Given the description of an element on the screen output the (x, y) to click on. 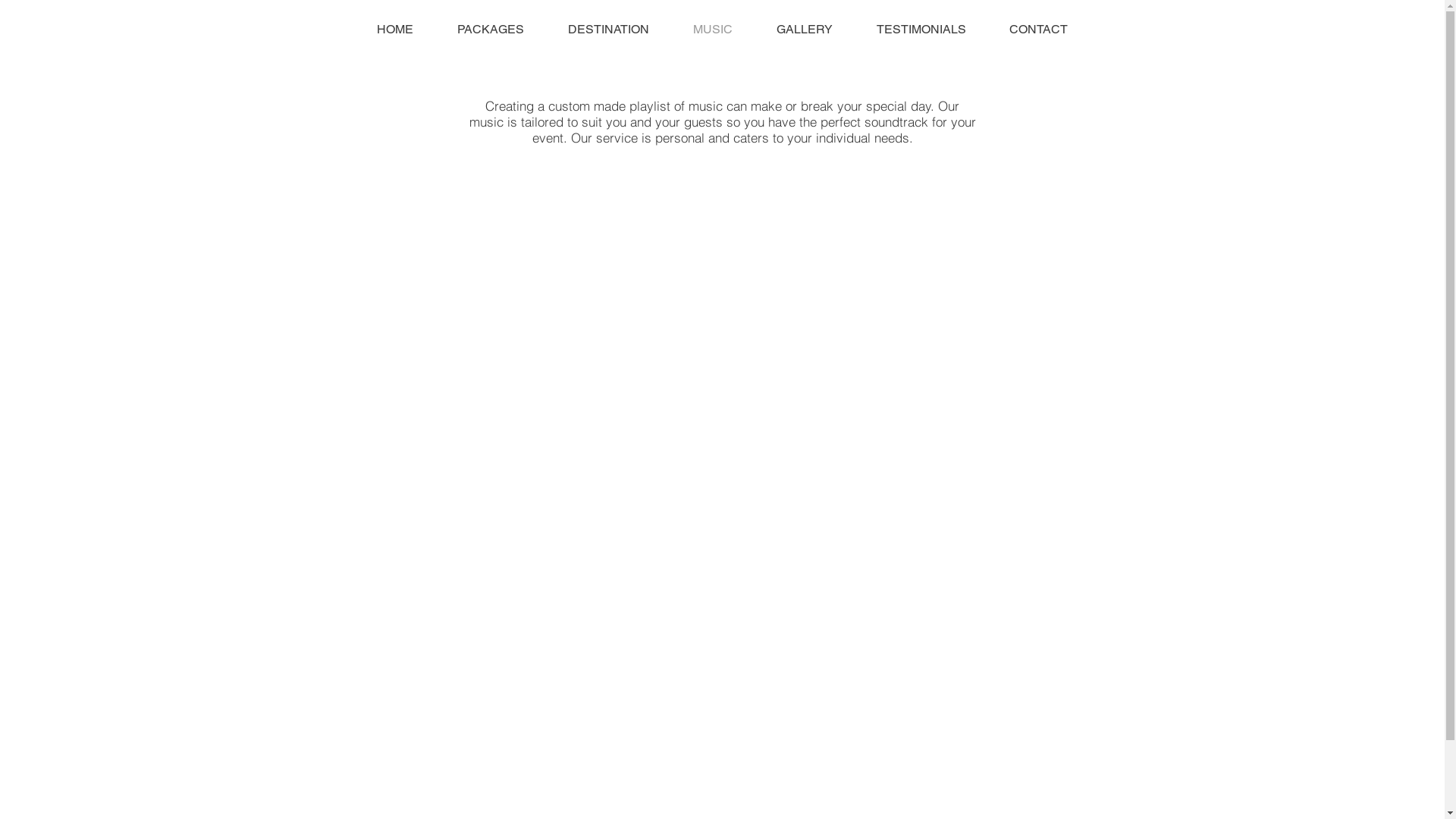
HOME Element type: text (394, 29)
External YouTube Element type: hover (570, 266)
GALLERY Element type: text (803, 29)
External YouTube Element type: hover (868, 266)
CONTACT Element type: text (1037, 29)
External YouTube Element type: hover (570, 709)
MUSIC Element type: text (711, 29)
PACKAGES Element type: text (490, 29)
External YouTube Element type: hover (570, 487)
SoundCloud Player Element type: hover (868, 487)
DESTINATION Element type: text (608, 29)
External YouTube Element type: hover (869, 709)
TESTIMONIALS Element type: text (920, 29)
